Given the description of an element on the screen output the (x, y) to click on. 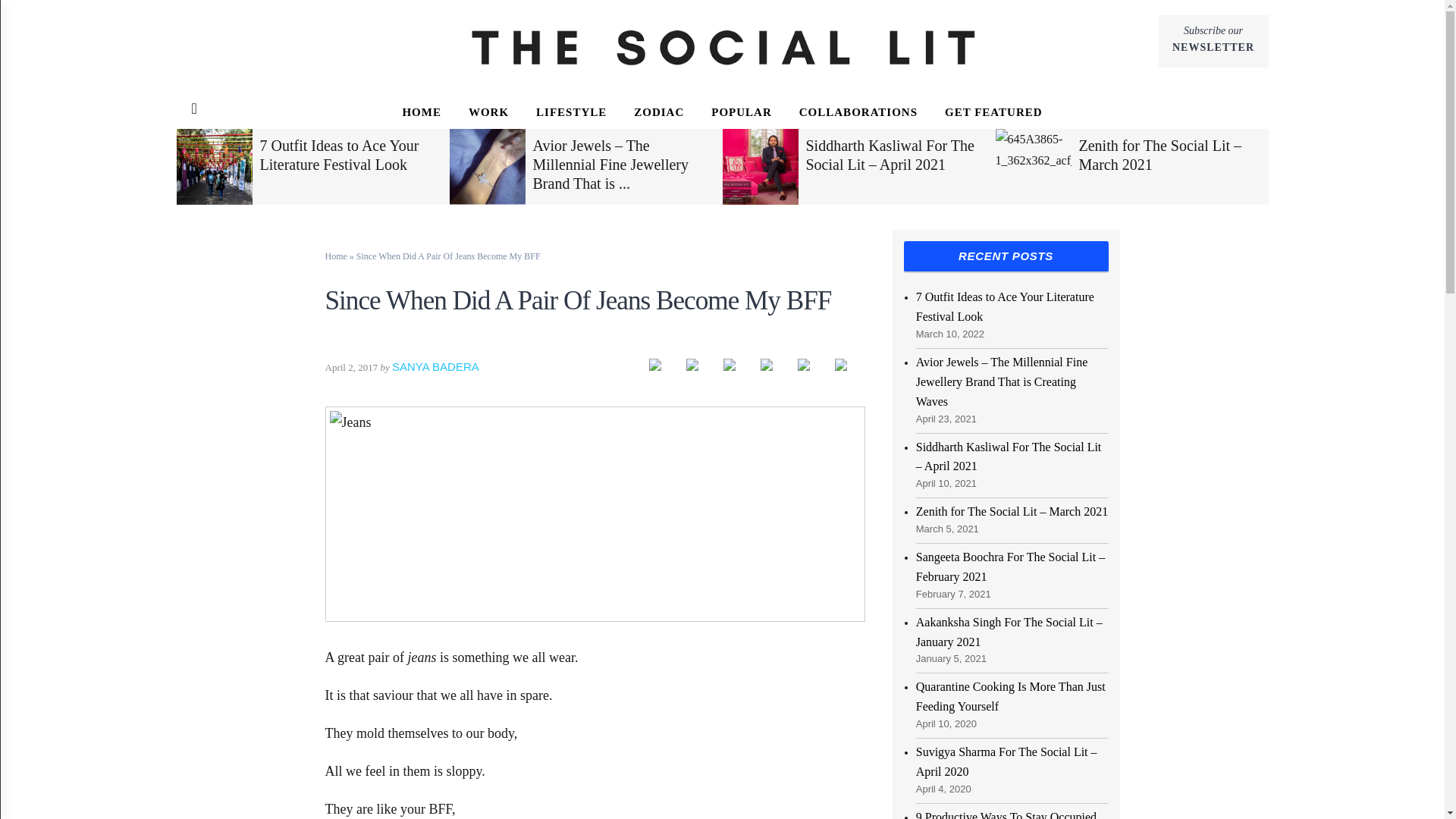
WORK (488, 111)
GET FEATURED (994, 111)
POPULAR (741, 111)
HOME (421, 111)
COLLABORATIONS (1213, 41)
ZODIAC (858, 111)
LIFESTYLE (658, 111)
